Given the description of an element on the screen output the (x, y) to click on. 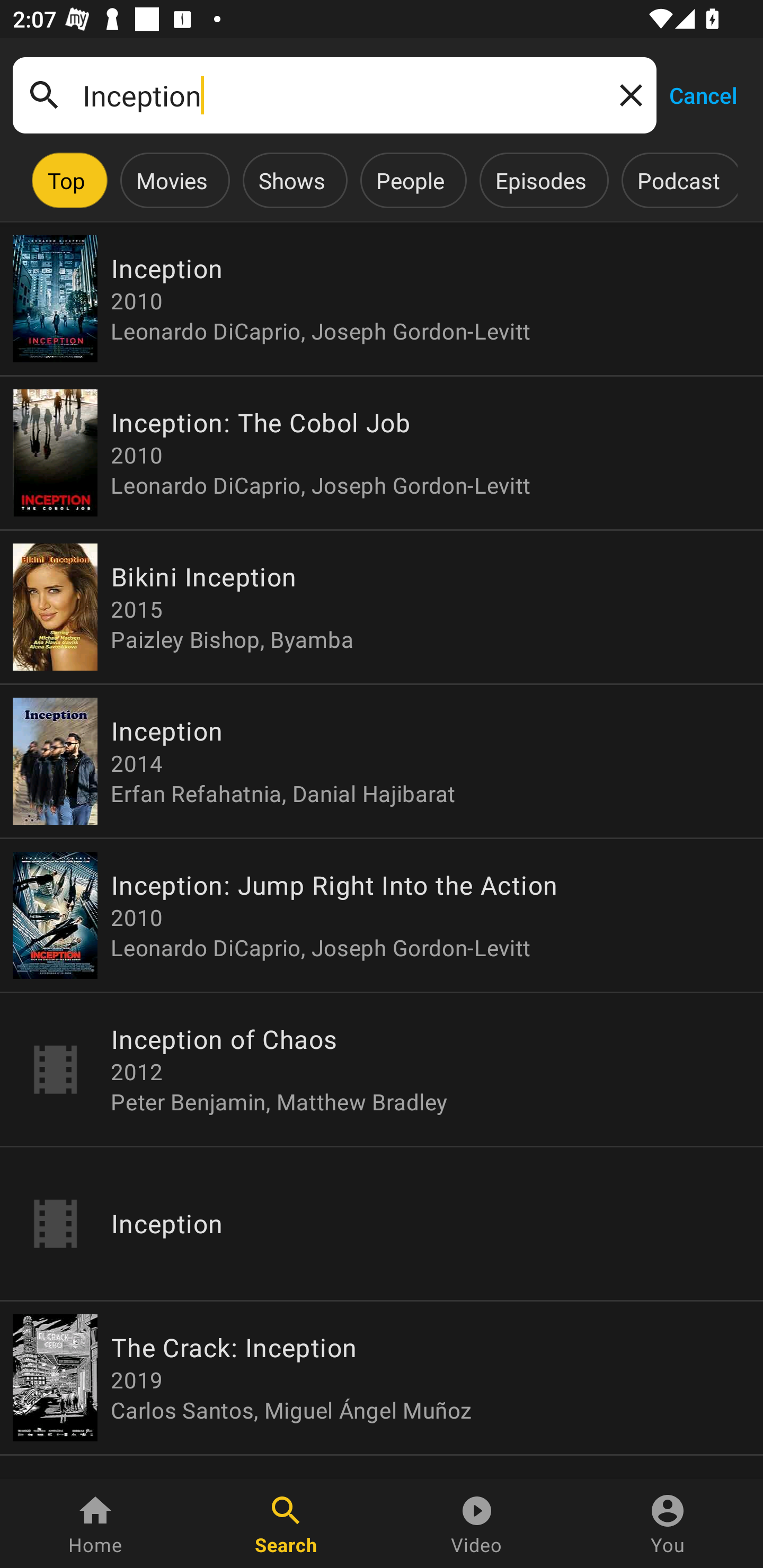
Clear query (627, 94)
Cancel (703, 94)
Inception (334, 95)
Top (66, 180)
Movies (171, 180)
Shows (291, 180)
People (410, 180)
Episodes (540, 180)
Podcast (678, 180)
Bikini Inception 2015 Paizley Bishop, Byamba (381, 607)
Inception 2014 Erfan Refahatnia, Danial Hajibarat (381, 761)
Inception (381, 1223)
Home (95, 1523)
Video (476, 1523)
You (667, 1523)
